Given the description of an element on the screen output the (x, y) to click on. 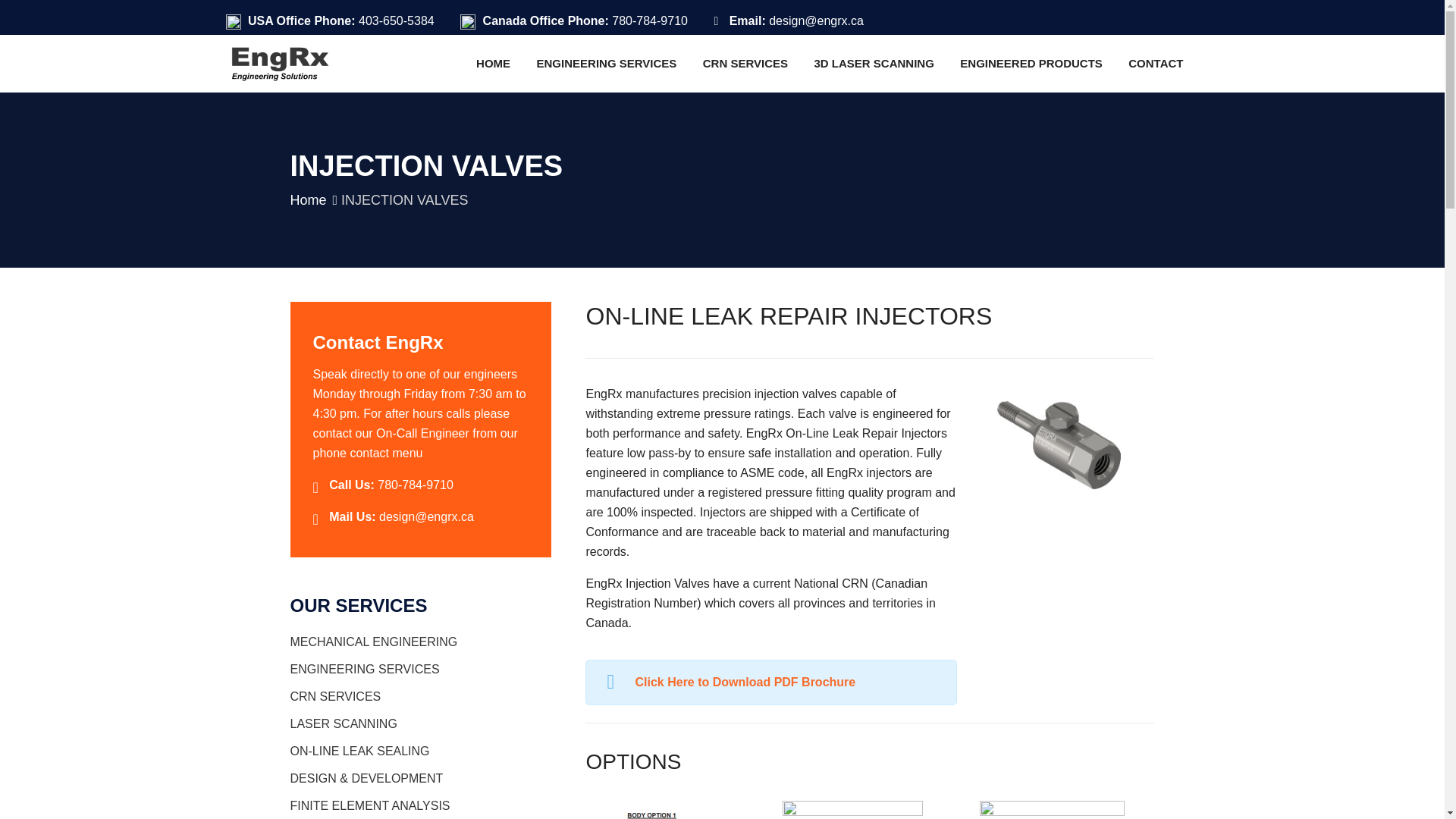
3D LASER SCANNING (873, 63)
780-784-9710 (649, 20)
ENGINEERING SERVICES (606, 63)
CRN SERVICES (745, 63)
CONTACT (1154, 63)
ENGINEERING SERVICES (606, 63)
403-650-5384 (395, 20)
HOME (492, 63)
ENGINEERED PRODUCTS (1031, 63)
HOME (492, 63)
